Given the description of an element on the screen output the (x, y) to click on. 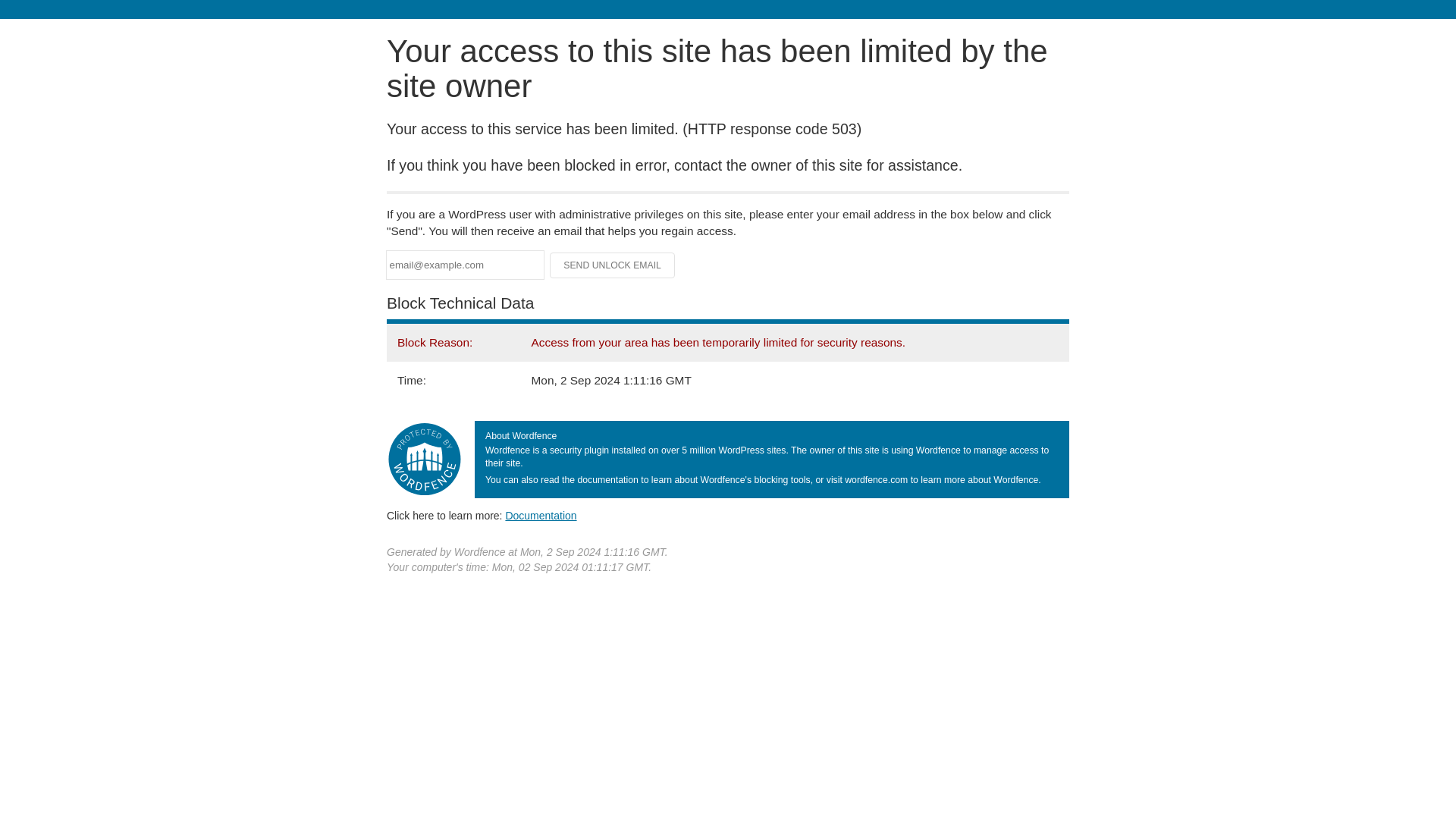
Send Unlock Email (612, 265)
Send Unlock Email (612, 265)
Documentation (540, 515)
